Given the description of an element on the screen output the (x, y) to click on. 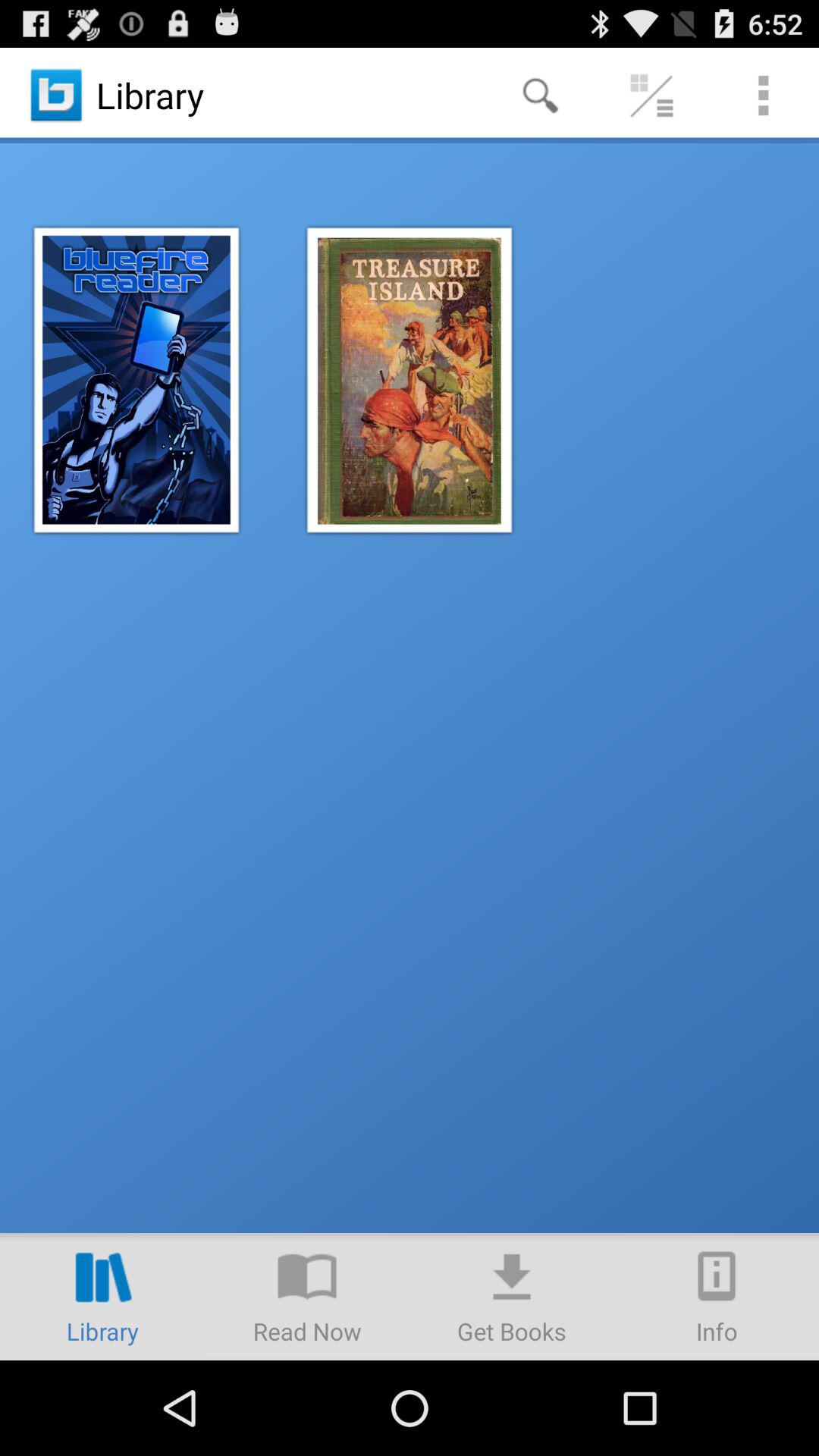
go to read now (306, 1296)
